Given the description of an element on the screen output the (x, y) to click on. 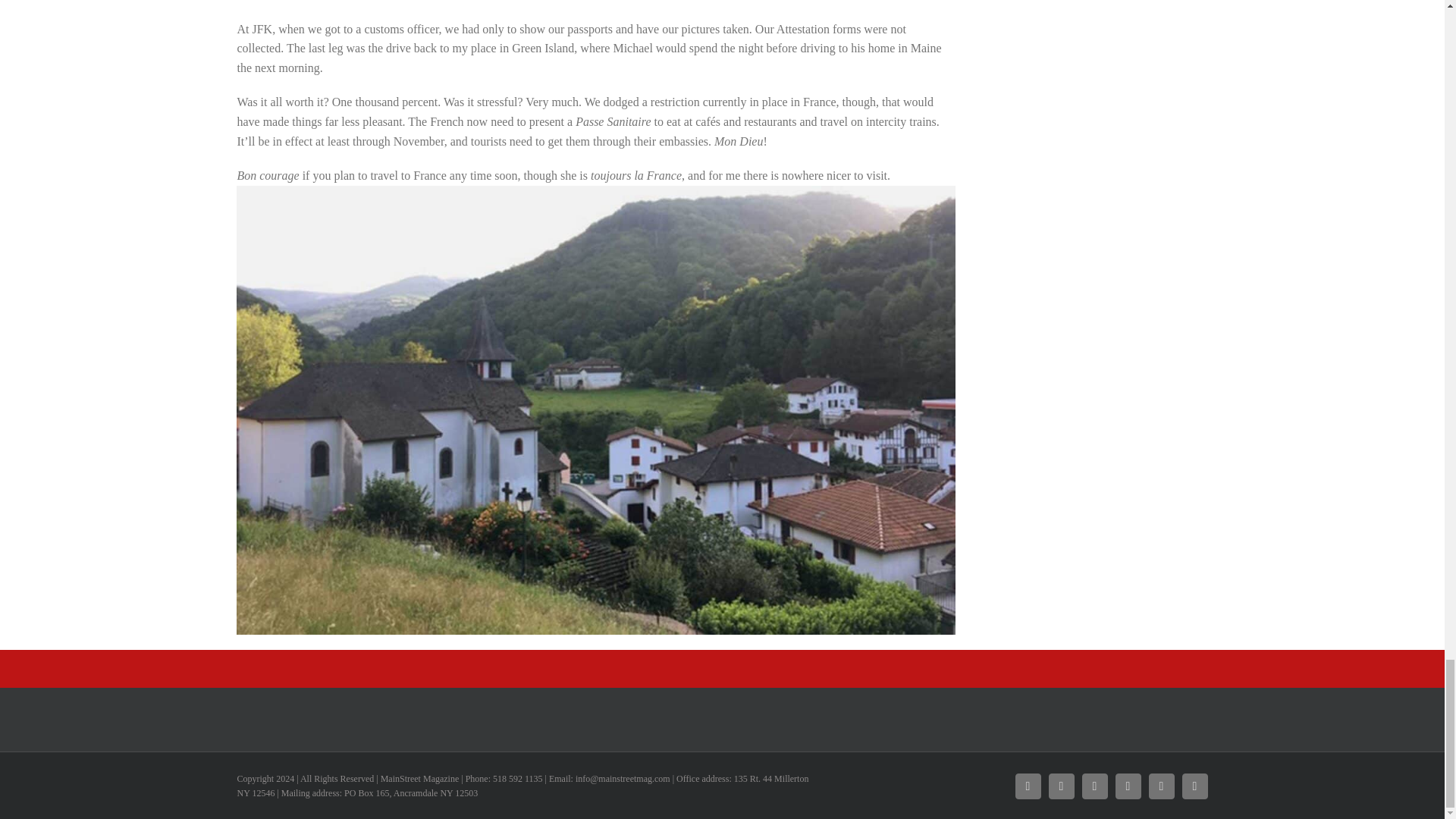
Facebook (1027, 786)
YouTube (1127, 786)
Instagram (1061, 786)
Tiktok (1160, 786)
Moxie Podcast (1093, 786)
